Given the description of an element on the screen output the (x, y) to click on. 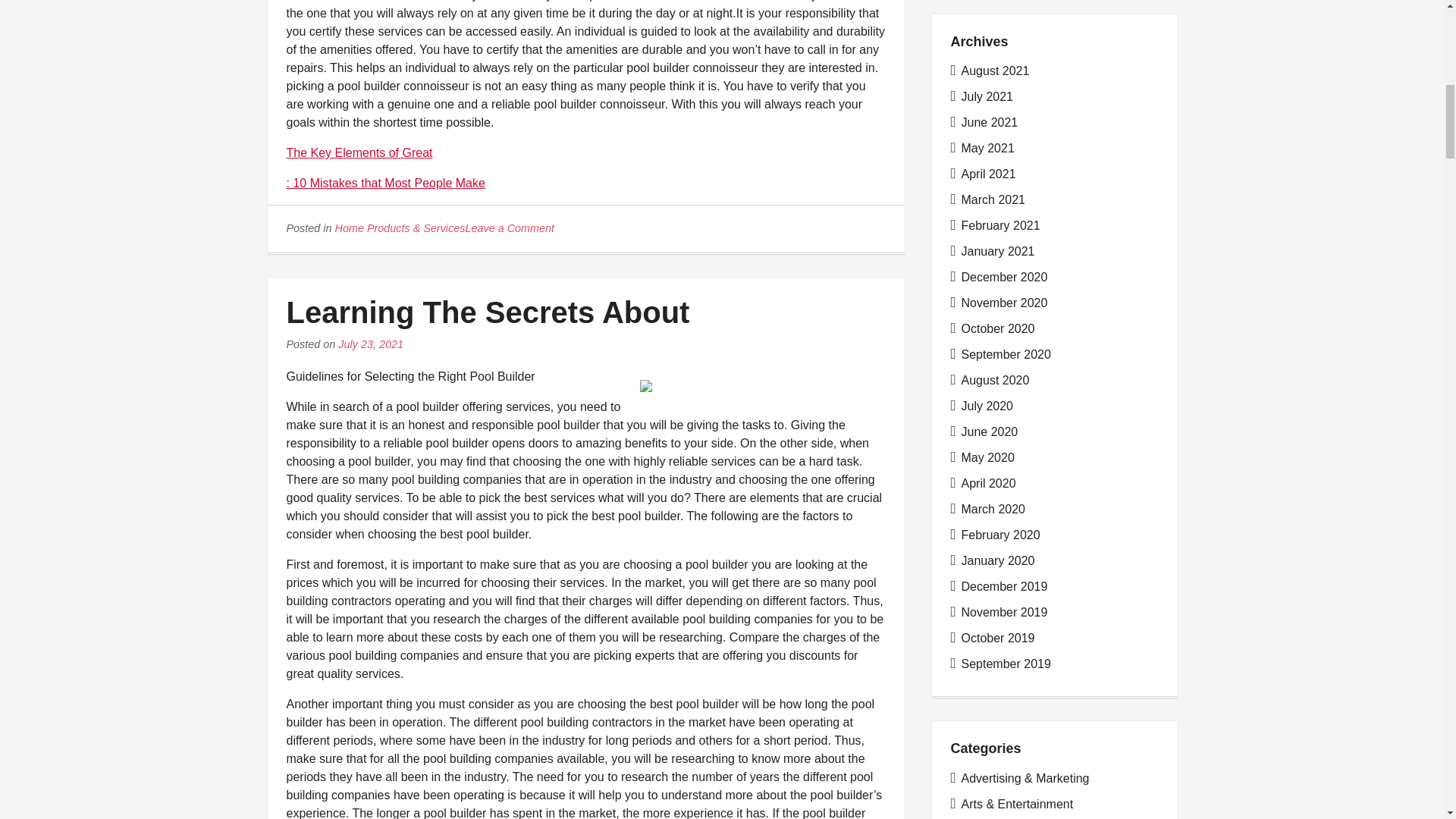
Learning The Secrets About (488, 312)
July 23, 2021 (370, 344)
: 10 Mistakes that Most People Make (385, 182)
The Key Elements of Great (359, 152)
